Given the description of an element on the screen output the (x, y) to click on. 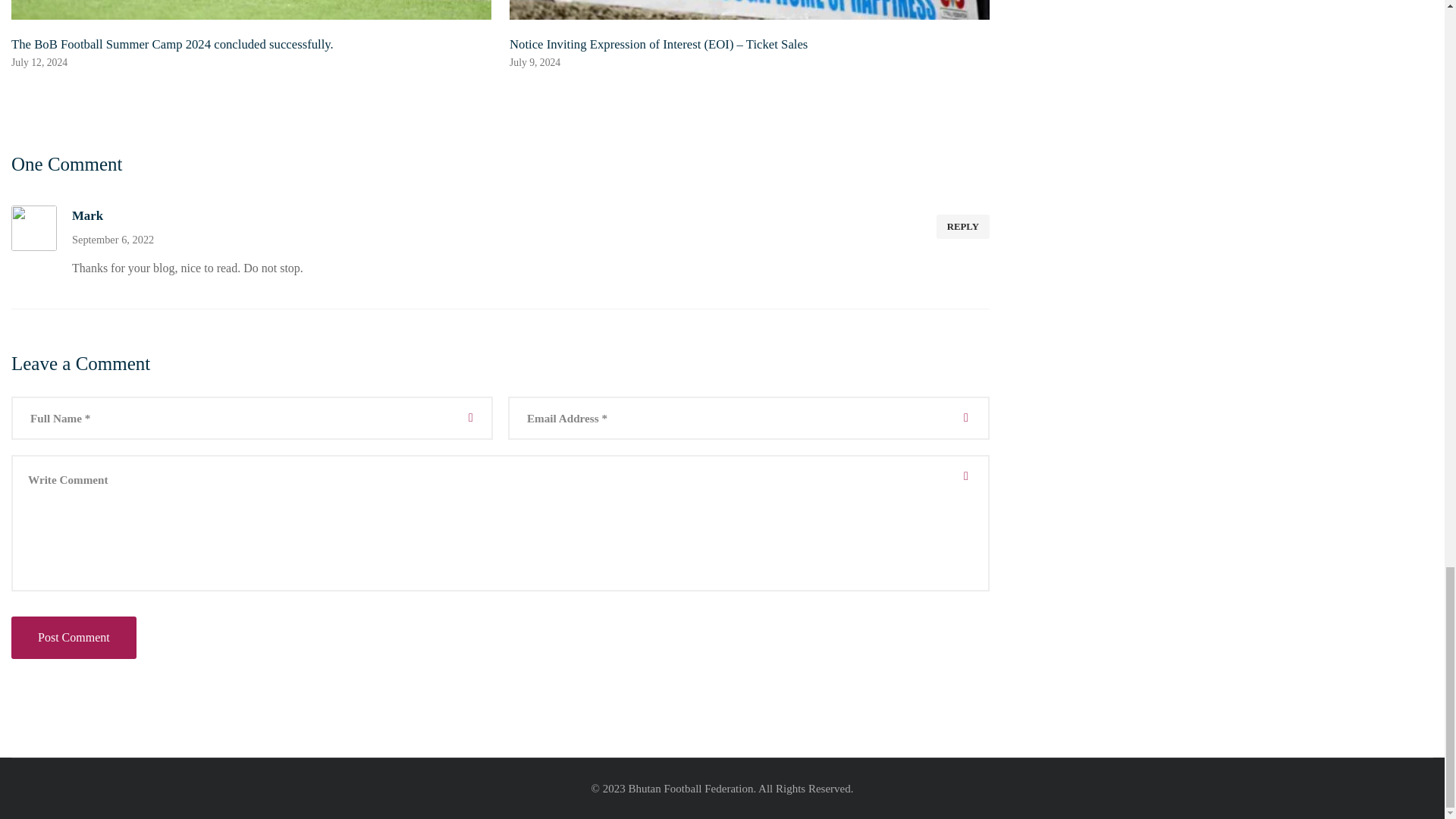
Post Comment (73, 637)
